Given the description of an element on the screen output the (x, y) to click on. 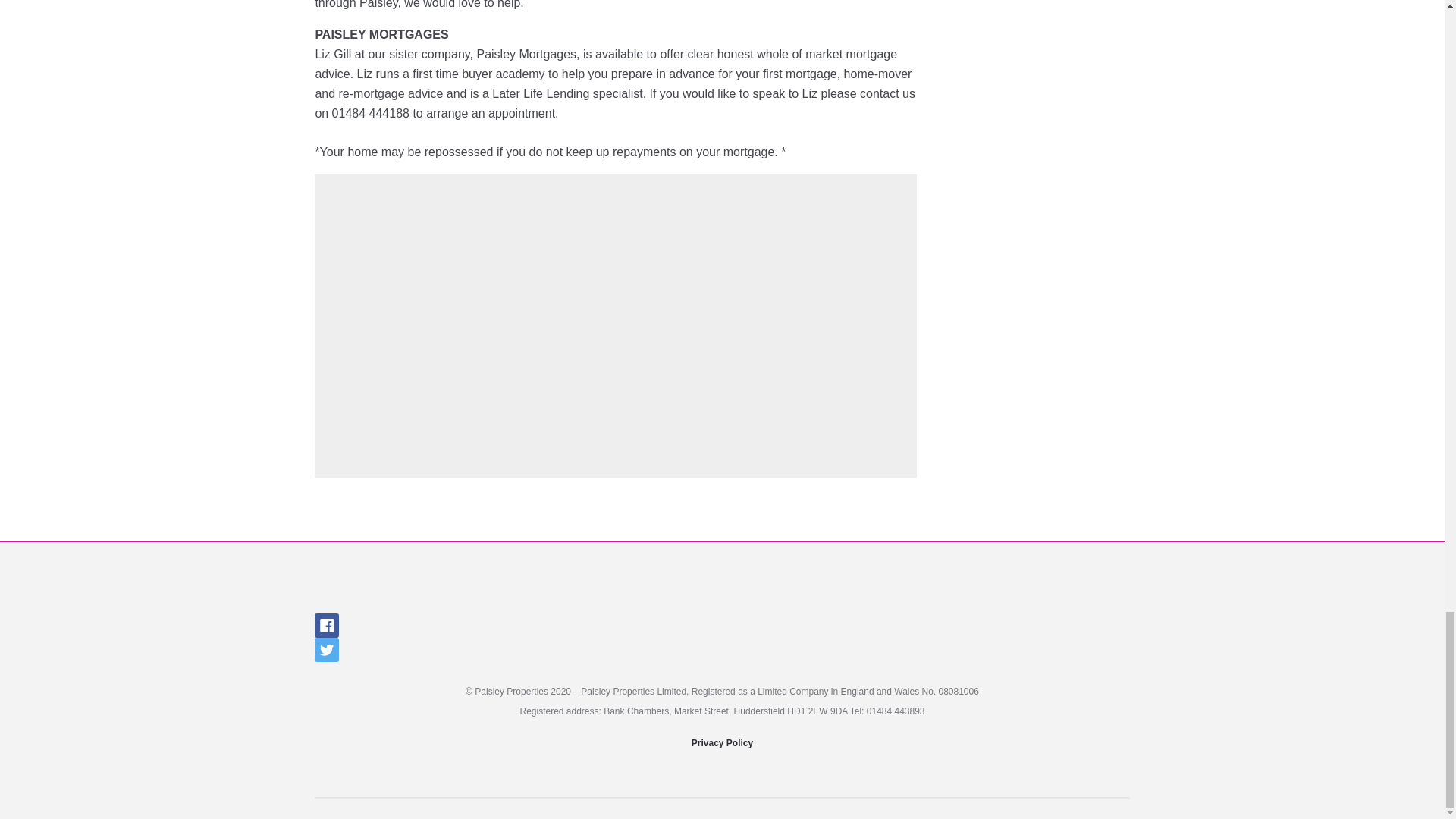
Privacy Policy (721, 742)
